Given the description of an element on the screen output the (x, y) to click on. 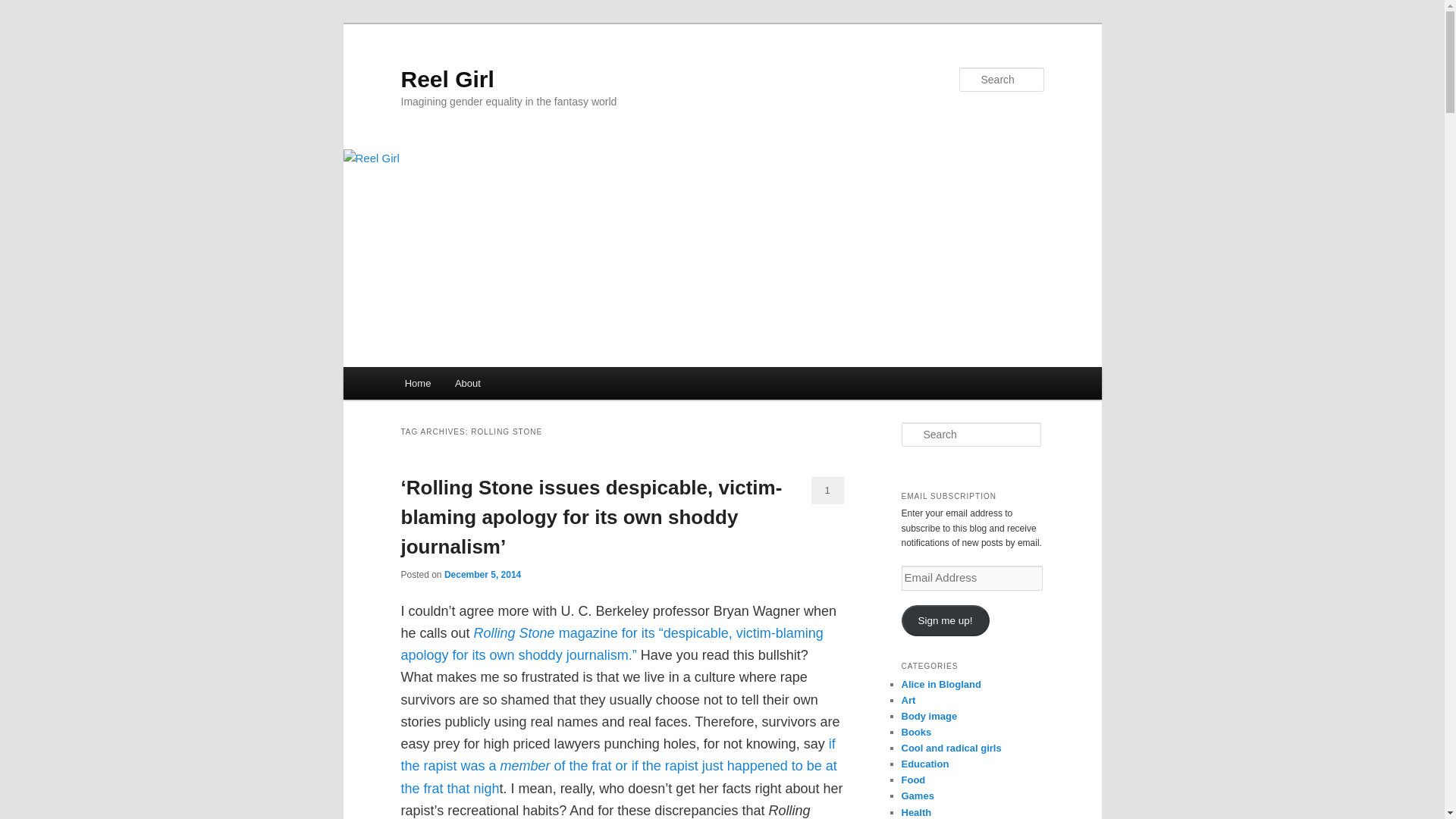
Home (417, 382)
About (467, 382)
1 (827, 490)
Search (24, 8)
Reel Girl (446, 78)
December 5, 2014 (482, 574)
6:13 pm (482, 574)
